Given the description of an element on the screen output the (x, y) to click on. 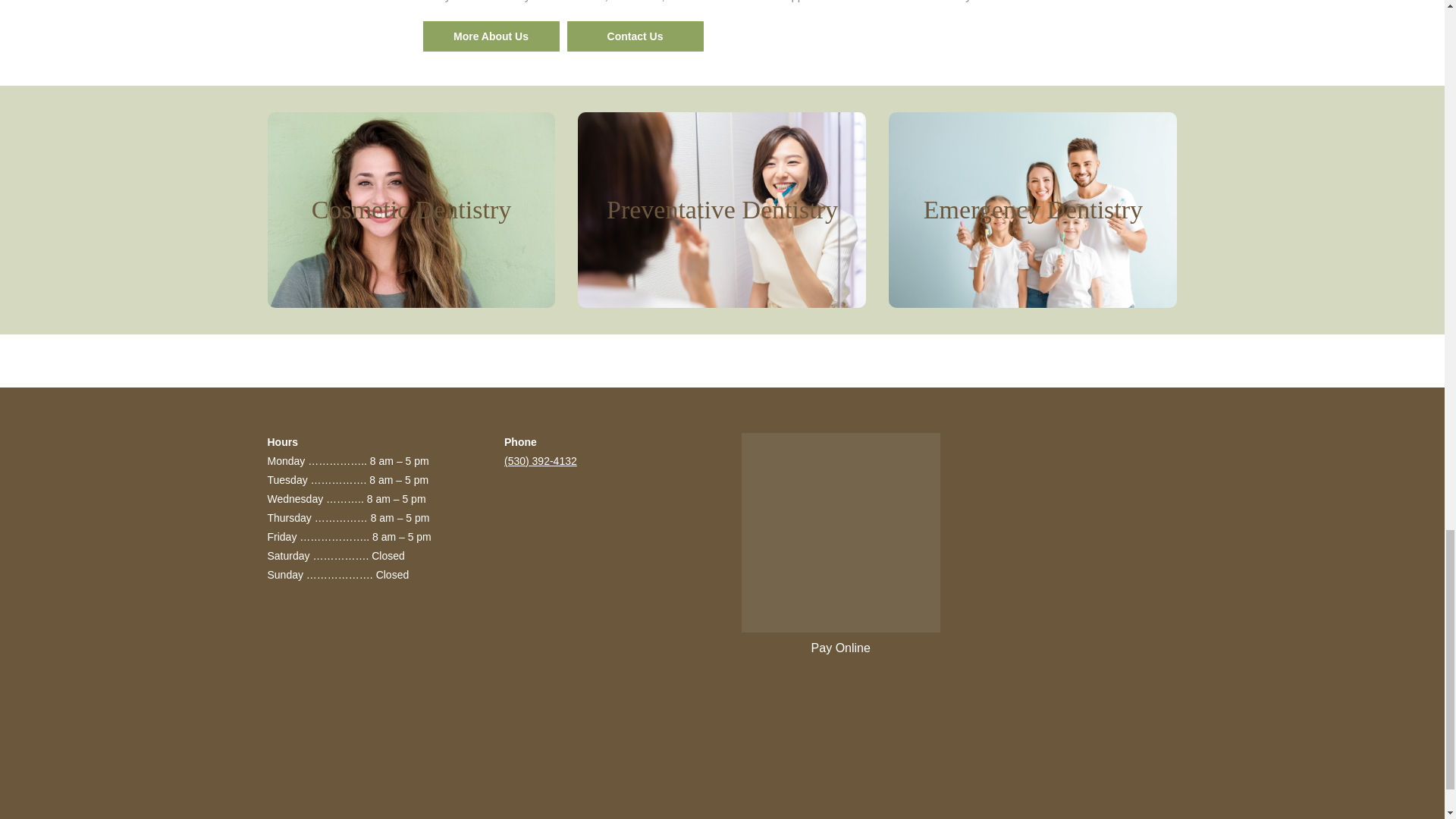
About Us (491, 36)
Contact Us (635, 36)
